Given the description of an element on the screen output the (x, y) to click on. 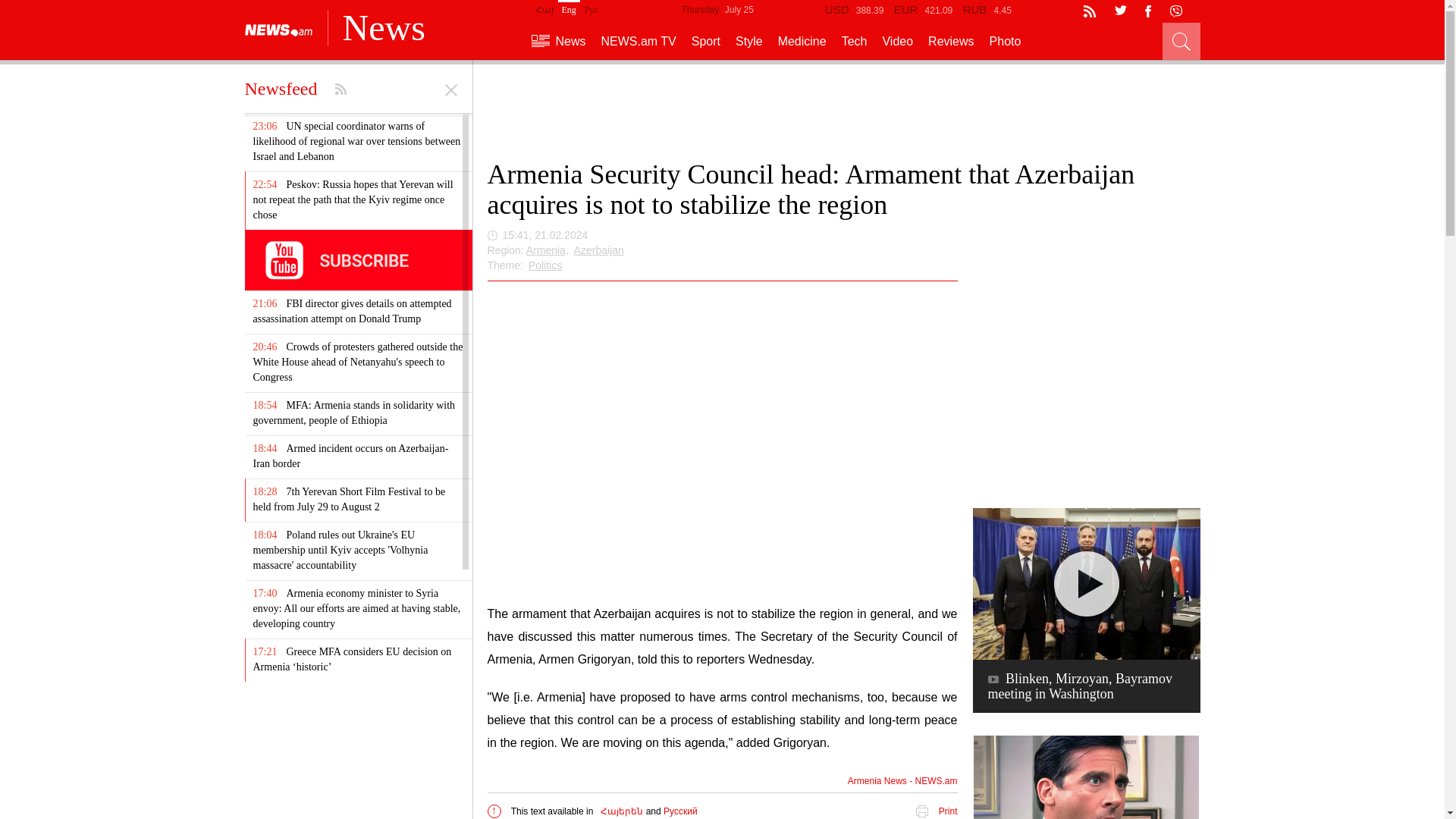
Photo (1006, 41)
Tech (854, 41)
Style (748, 41)
Medicine (802, 41)
Sport (705, 41)
Reviews (951, 41)
News (558, 41)
Video (897, 41)
YouTube video player (721, 439)
NEWS.am TV (639, 41)
Eng (568, 8)
